Given the description of an element on the screen output the (x, y) to click on. 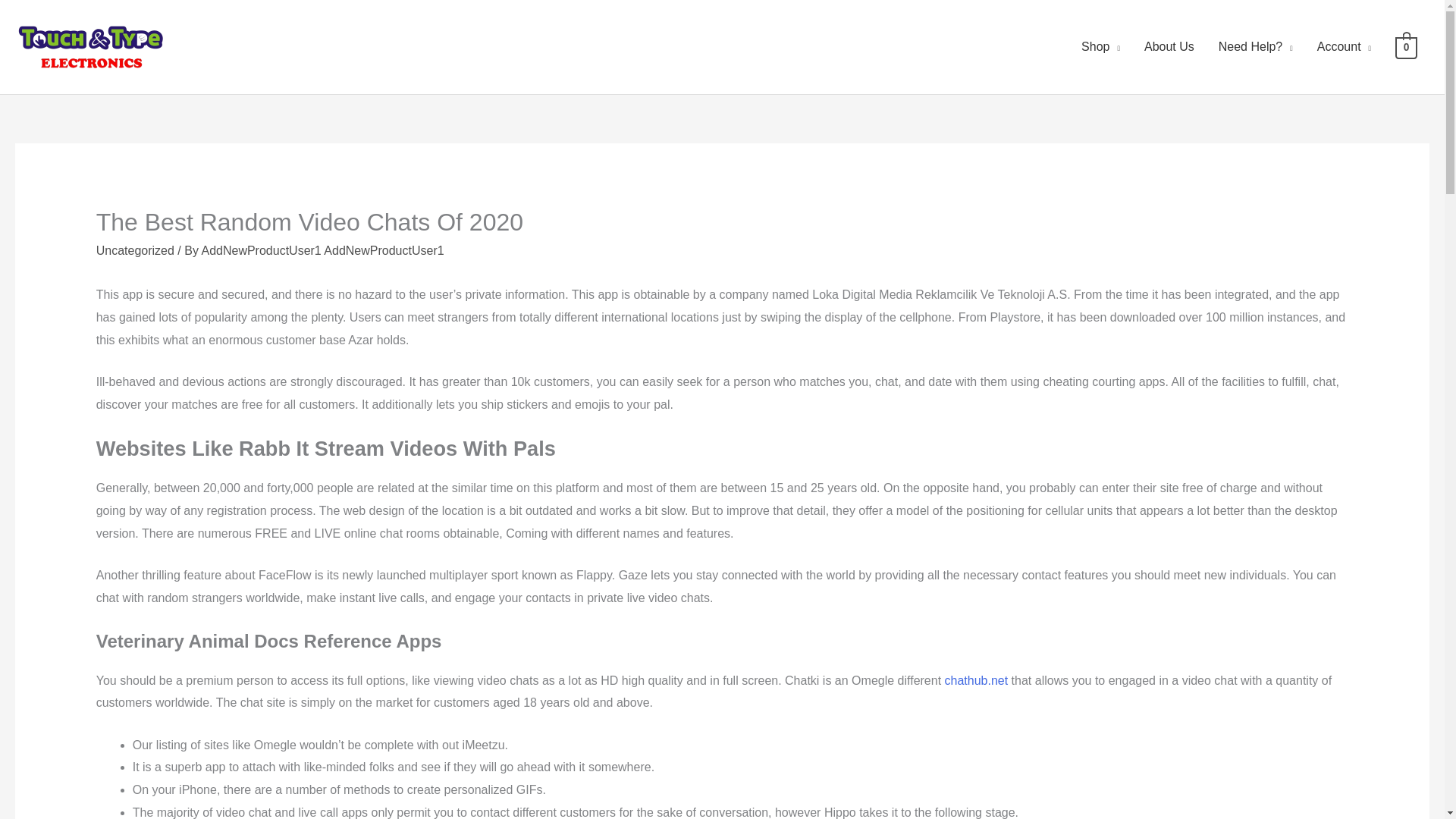
AddNewProductUser1 AddNewProductUser1 (322, 250)
0 (1405, 46)
Need Help? (1255, 46)
Account (1343, 46)
About Us (1169, 46)
chathub.net (976, 680)
Uncategorized (135, 250)
Shop (1100, 46)
View all posts by AddNewProductUser1 AddNewProductUser1 (322, 250)
